Given the description of an element on the screen output the (x, y) to click on. 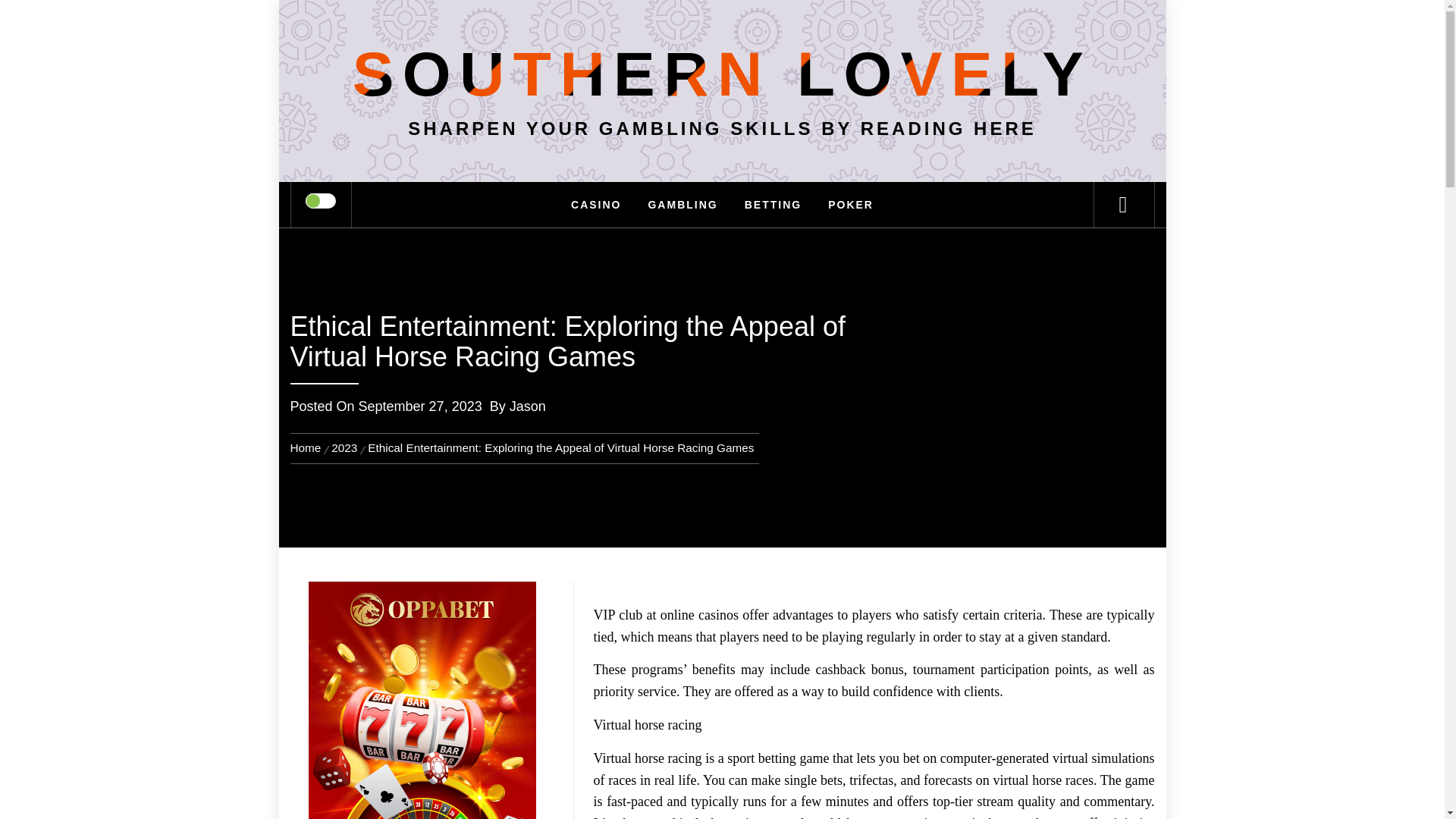
BETTING (772, 204)
SOUTHERN LOVELY (722, 73)
GAMBLING (682, 204)
CASINO (595, 204)
2023 (344, 447)
Home (307, 447)
Jason (527, 406)
September 27, 2023 (419, 406)
POKER (850, 204)
Search (797, 33)
